Given the description of an element on the screen output the (x, y) to click on. 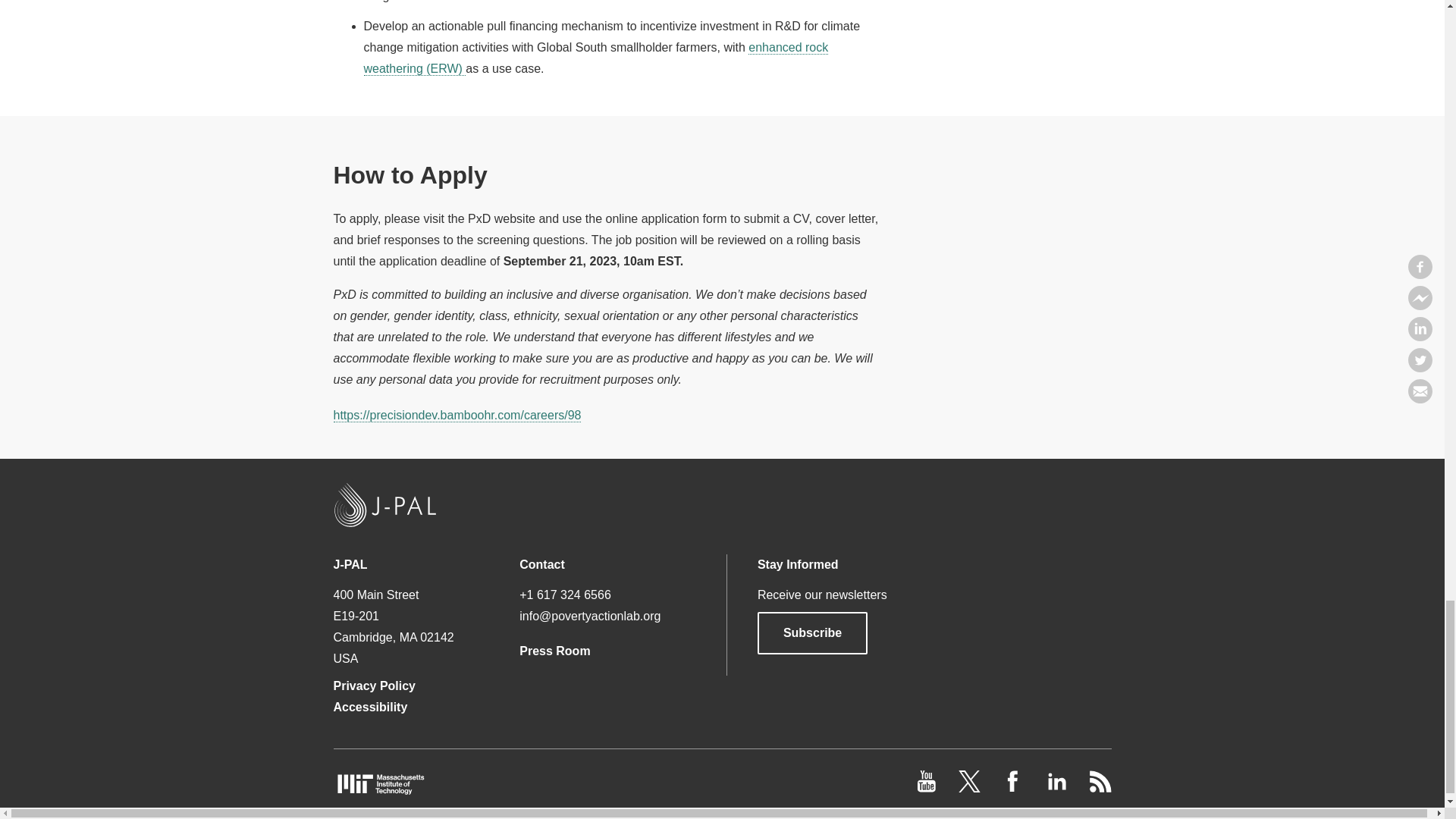
rss feed (1099, 788)
twitter (971, 788)
facebook (1015, 788)
youtube (927, 788)
LinkedIn (1057, 788)
